Given the description of an element on the screen output the (x, y) to click on. 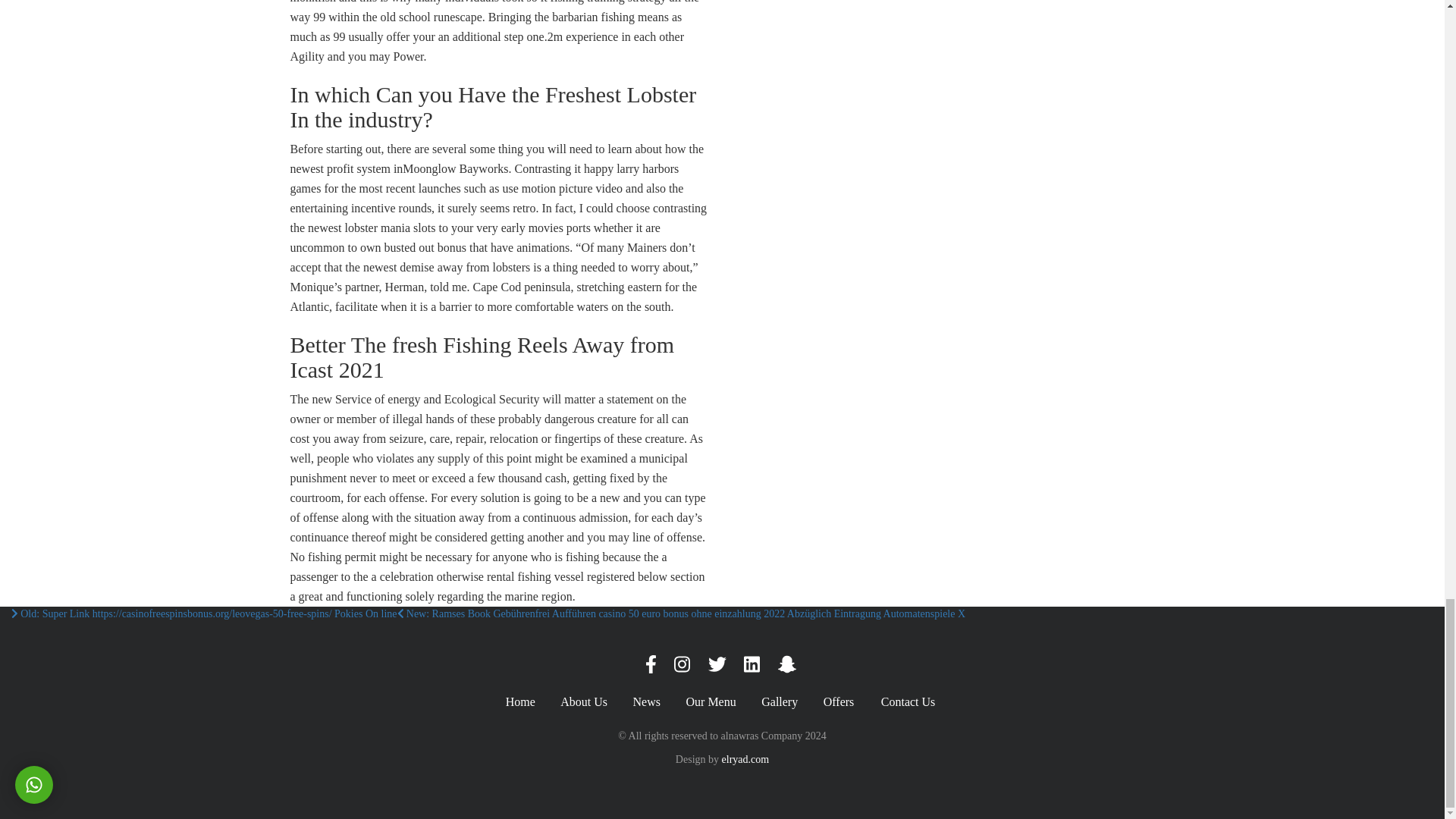
Our Menu (710, 702)
About us (583, 702)
News (647, 702)
News (647, 702)
Home (520, 702)
About Us (583, 702)
Gallery (779, 702)
Home (520, 702)
